Given the description of an element on the screen output the (x, y) to click on. 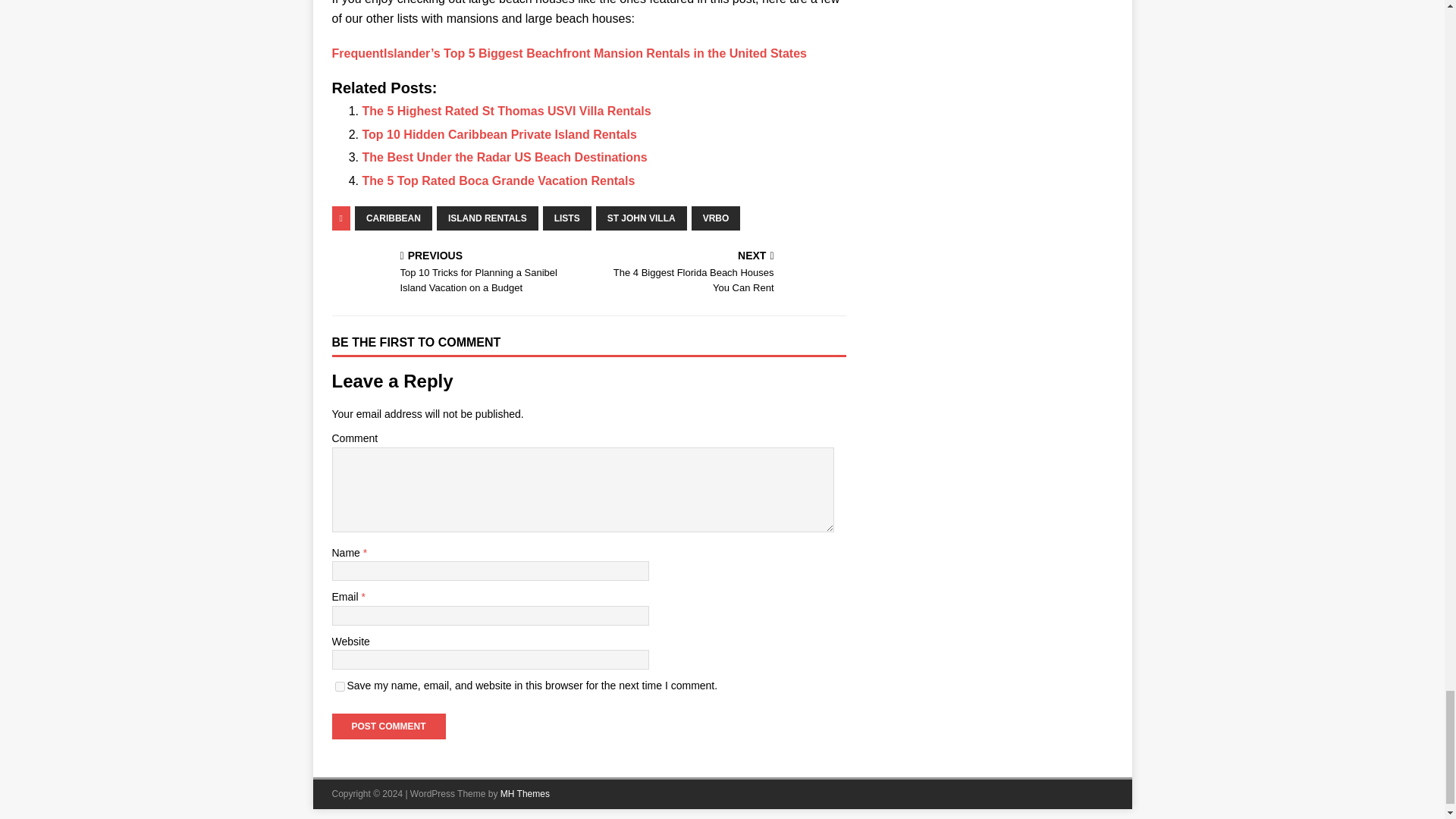
LISTS (567, 218)
VRBO (716, 218)
The 5 Top Rated Boca Grande Vacation Rentals (498, 180)
The Best Under the Radar US Beach Destinations (720, 273)
Top 10 Hidden Caribbean Private Island Rentals (504, 156)
The 5 Top Rated Boca Grande Vacation Rentals (499, 133)
CARIBBEAN (498, 180)
Top 10 Hidden Caribbean Private Island Rentals (393, 218)
The 5 Highest Rated St Thomas USVI Villa Rentals (499, 133)
yes (506, 110)
The Best Under the Radar US Beach Destinations (339, 686)
The 5 Highest Rated St Thomas USVI Villa Rentals (504, 156)
ST JOHN VILLA (506, 110)
